Given the description of an element on the screen output the (x, y) to click on. 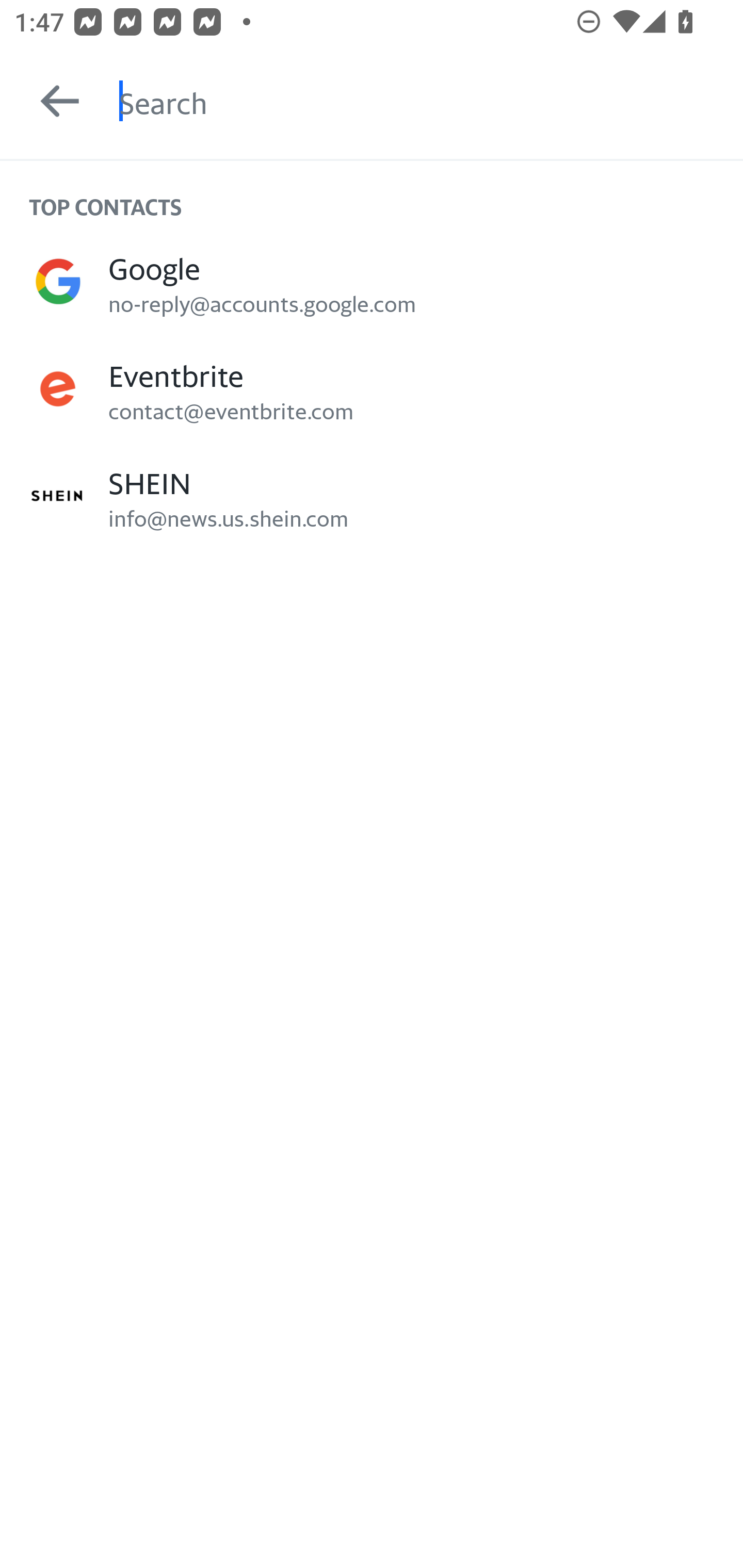
Back (50, 101)
Search (430, 101)
Top contacts Google no-reply@accounts.google.com (371, 281)
Top contacts Eventbrite contact@eventbrite.com (371, 388)
Top contacts SHEIN info@news.us.shein.com (371, 496)
